Given the description of an element on the screen output the (x, y) to click on. 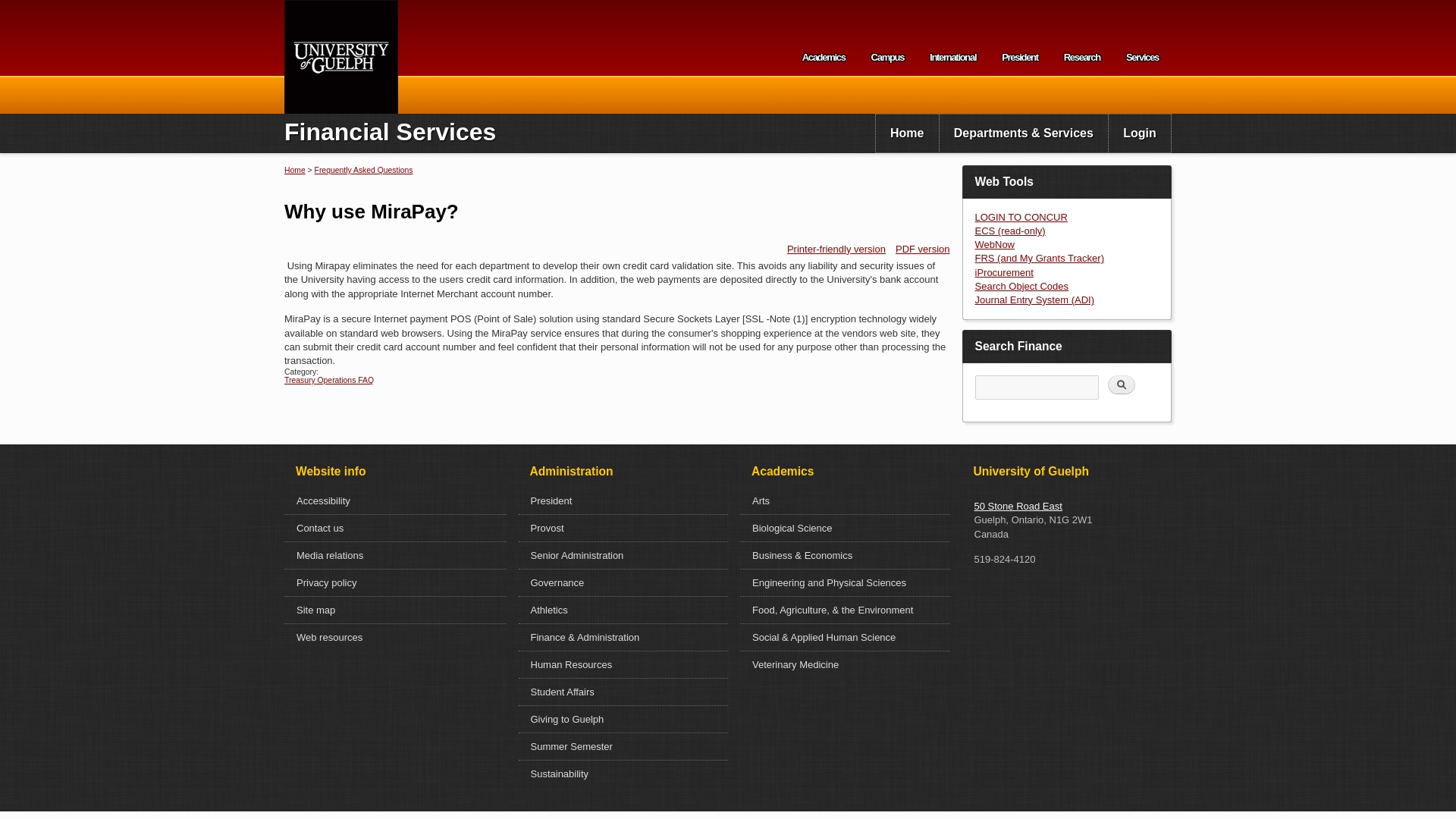
International (952, 60)
Campus (888, 60)
Research (1082, 60)
Frequently Asked Questions (363, 170)
Home (294, 170)
Financial Services (389, 131)
Login (1139, 133)
Skip to main content (689, 1)
University of Guelph Home (340, 56)
Search (1121, 384)
Services (1142, 60)
Academics (824, 60)
Home (907, 133)
President (1019, 60)
